Given the description of an element on the screen output the (x, y) to click on. 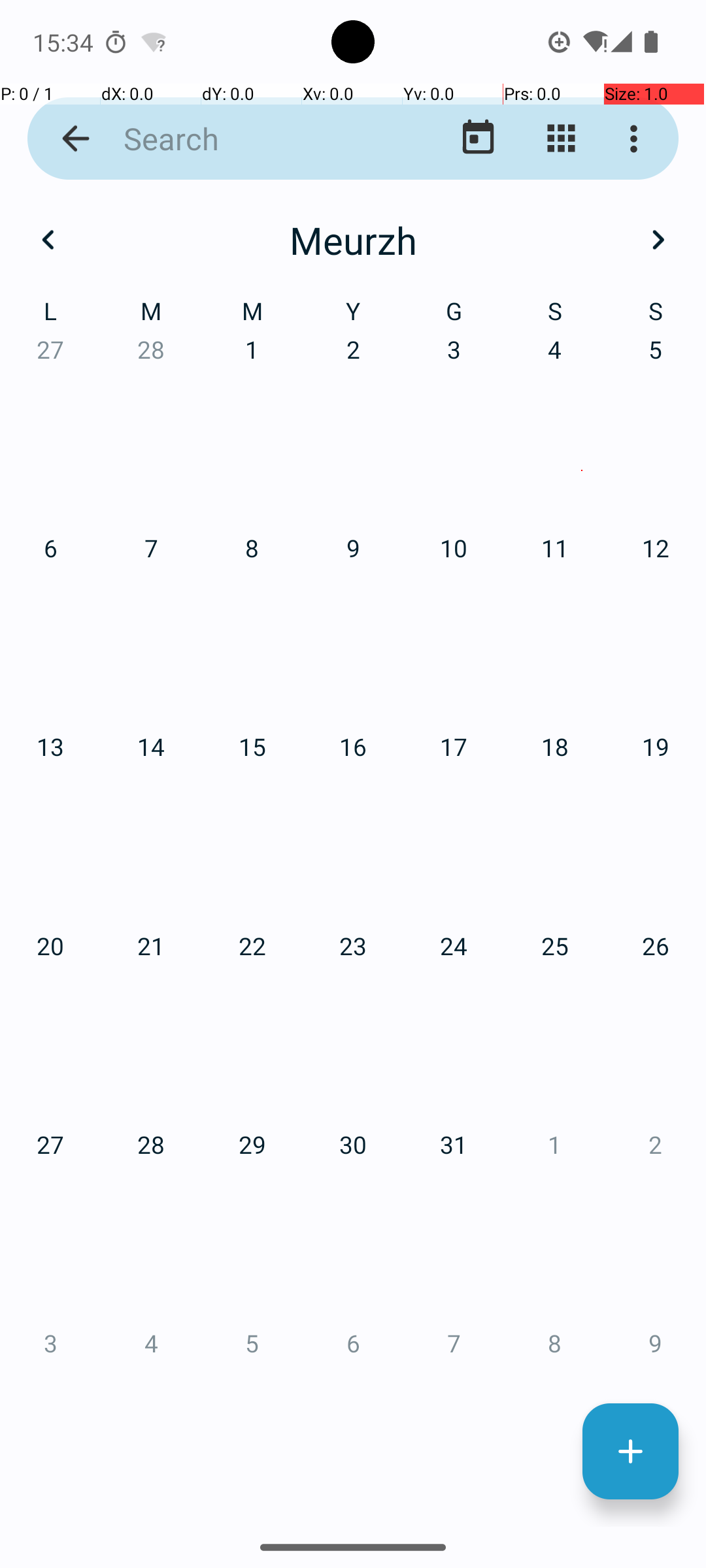
Mont da hiziv Element type: android.widget.Button (477, 138)
Kemmañ ar gwel Element type: android.widget.Button (560, 138)
Darvoud nevez Element type: android.widget.ImageButton (630, 1451)
GENVER Element type: android.widget.TextView (123, 319)
C'HWEVRER Element type: android.widget.TextView (352, 319)
MEURZH Element type: android.widget.TextView (582, 319)
EBREL Element type: android.widget.TextView (123, 621)
MAE Element type: android.widget.TextView (352, 621)
MEZHEVEN Element type: android.widget.TextView (582, 621)
GOUERE Element type: android.widget.TextView (123, 923)
EOST Element type: android.widget.TextView (352, 923)
GWENGOLO Element type: android.widget.TextView (582, 923)
HERE Element type: android.widget.TextView (123, 1224)
DU Element type: android.widget.TextView (352, 1224)
KERZU Element type: android.widget.TextView (582, 1224)
Meurzh Element type: android.widget.TextView (352, 239)
